Given the description of an element on the screen output the (x, y) to click on. 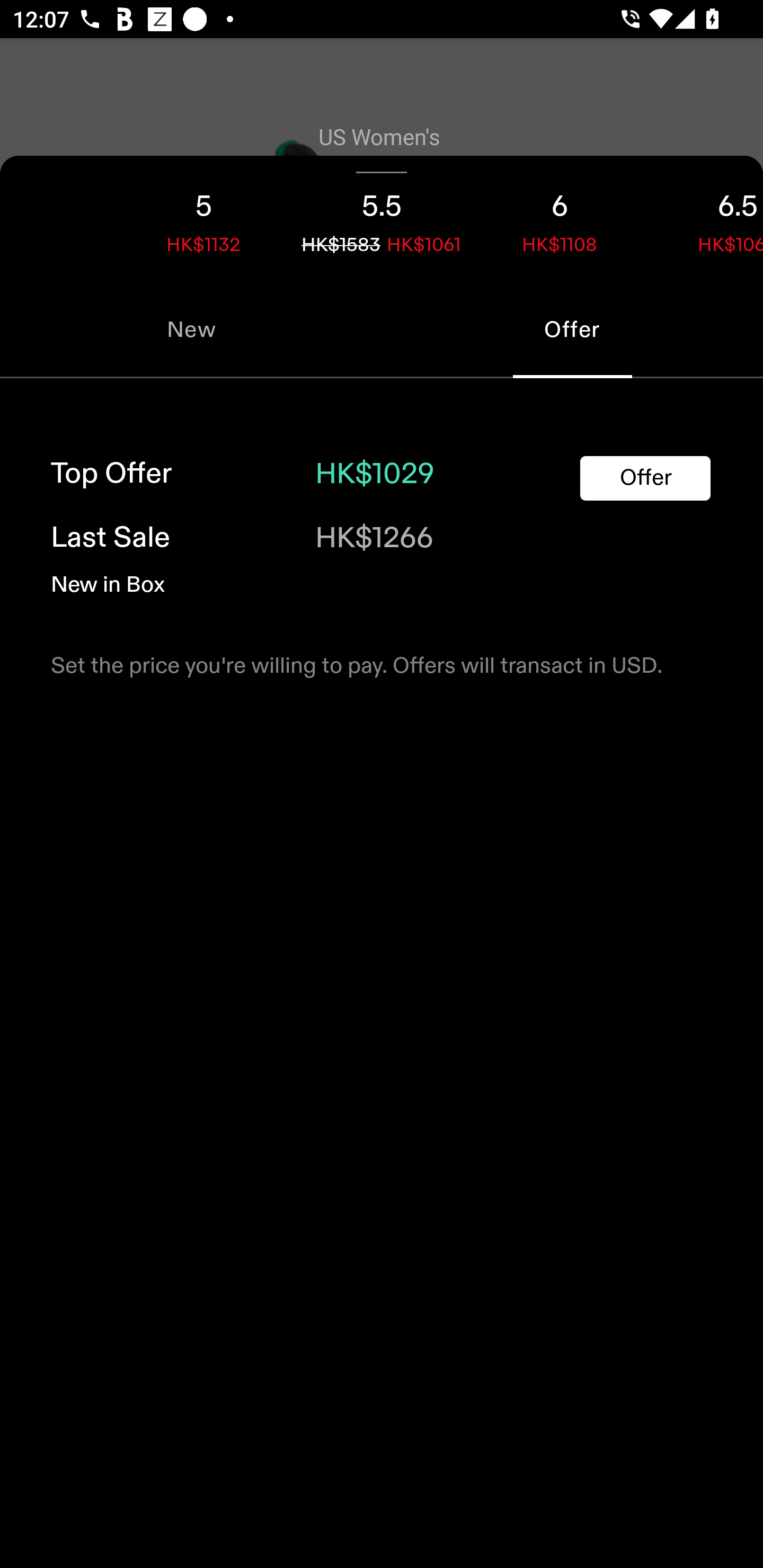
5 HK$1132 (203, 218)
5.5 HK$1583 HK$1061 (381, 218)
6 HK$1108 (559, 218)
6.5 HK$1068 (705, 218)
New (190, 329)
Offer (644, 477)
